Given the description of an element on the screen output the (x, y) to click on. 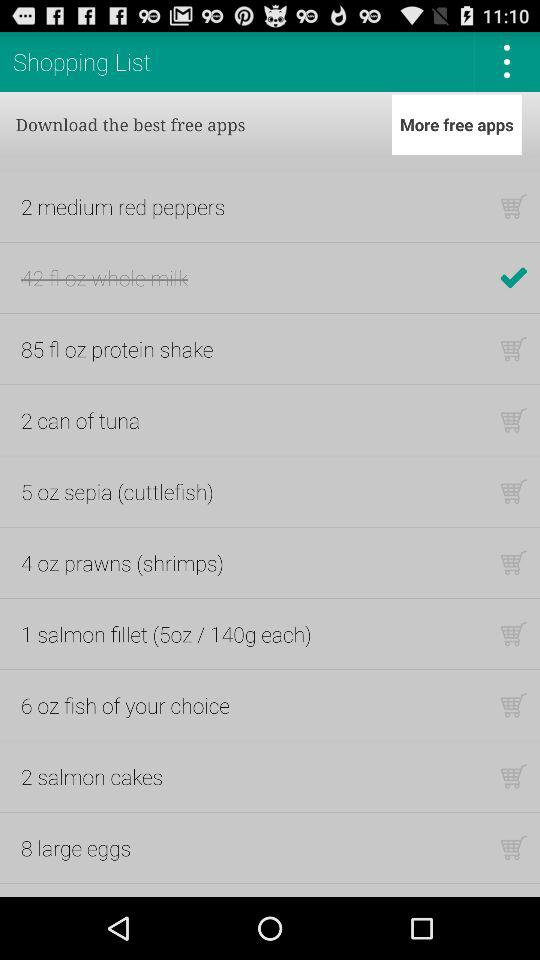
jump until the 2 salmon cakes app (91, 776)
